Given the description of an element on the screen output the (x, y) to click on. 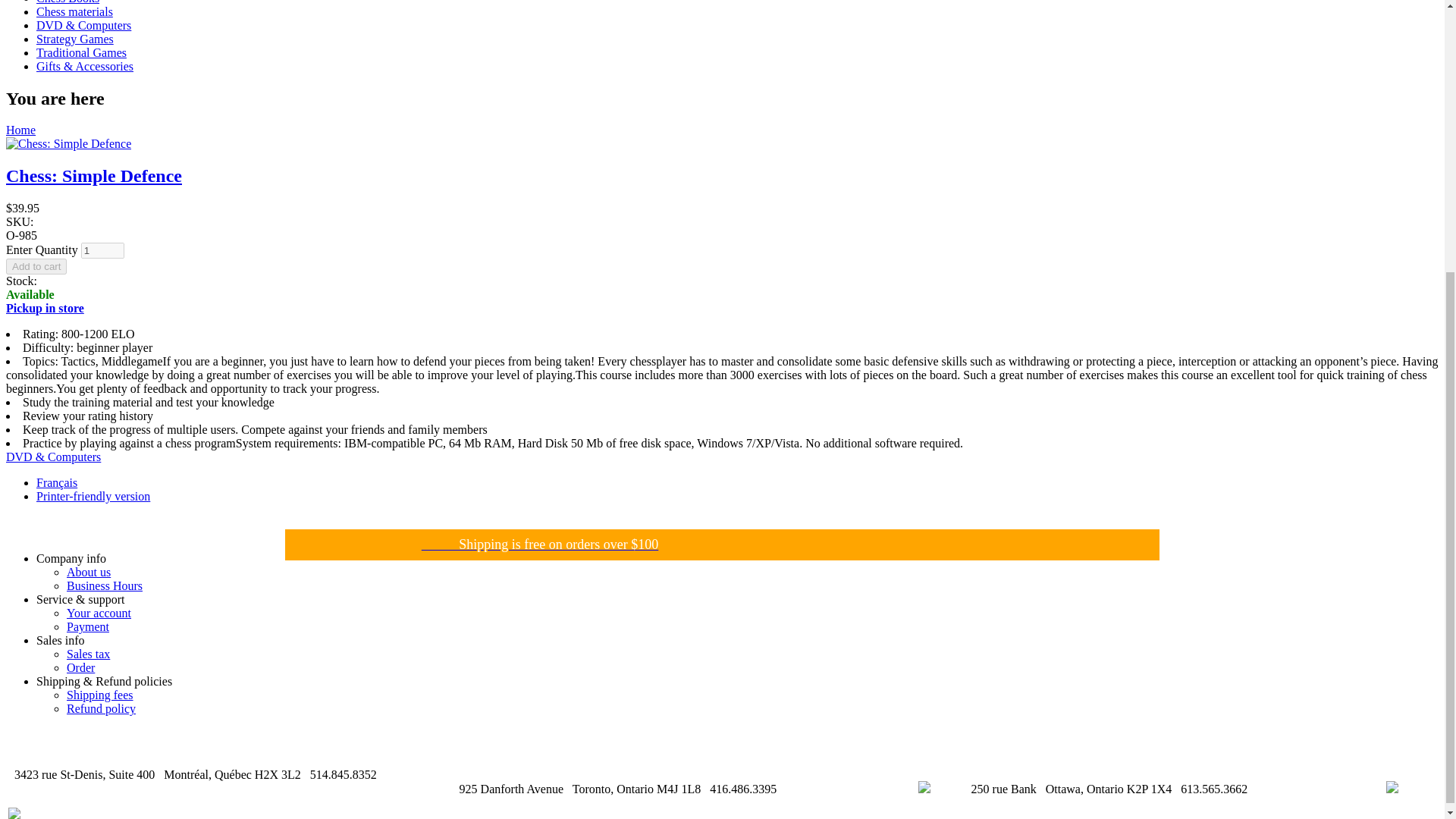
Refund policy (100, 707)
Your account (98, 612)
Payment (87, 626)
Order (80, 667)
Strategy Games (74, 38)
Home (19, 129)
Chess: simple defence (56, 481)
Chess: Simple Defence (93, 175)
Gifts and Accessories (84, 65)
Chess materials (74, 11)
About us (88, 571)
Add to cart (35, 266)
Shipping fees (99, 694)
Chess materials (74, 11)
Traditional Games (81, 51)
